Given the description of an element on the screen output the (x, y) to click on. 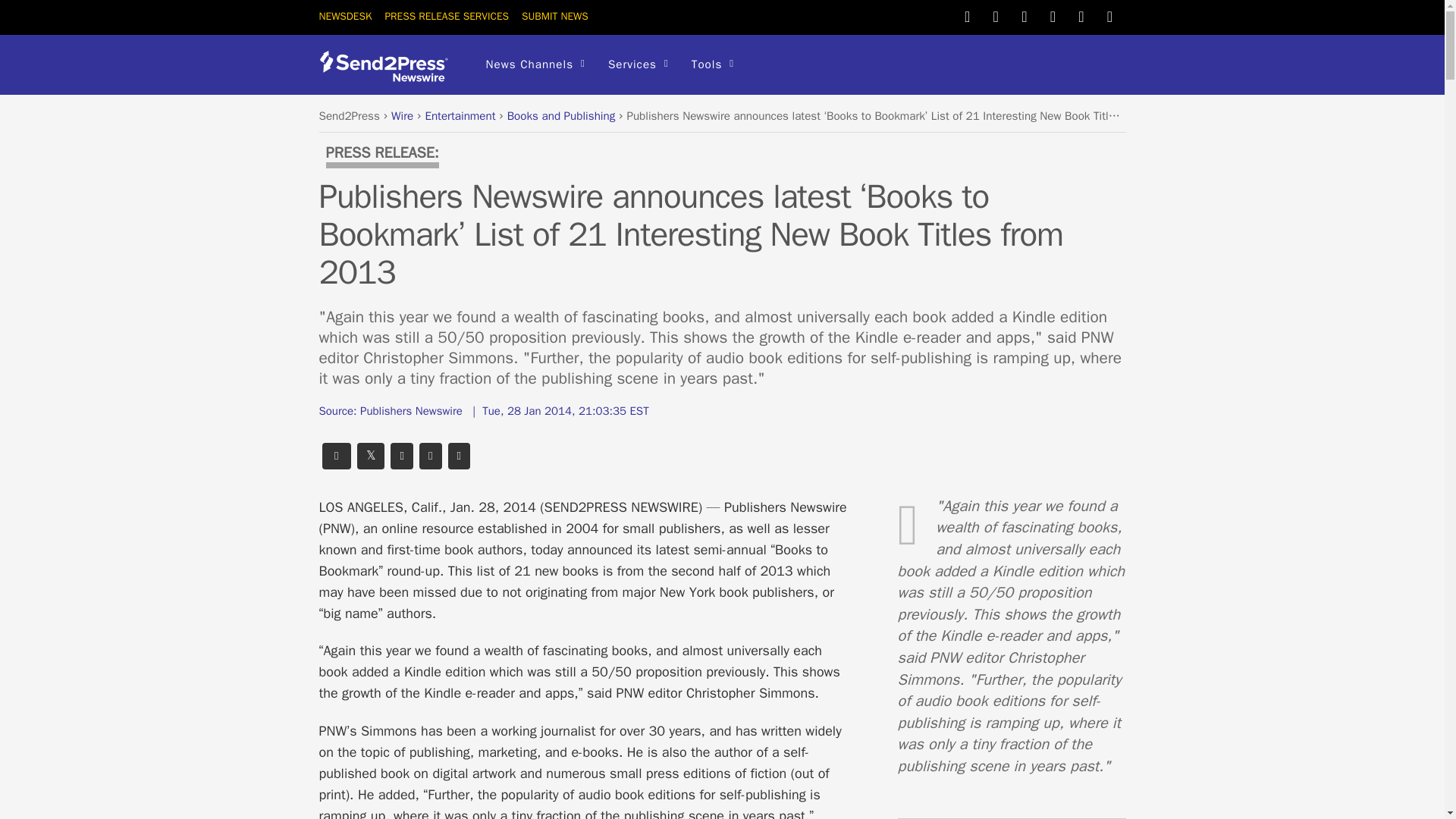
PR News Channels (535, 65)
RSS (1110, 15)
Instagram (1081, 15)
Facebook (995, 15)
Twitter (967, 15)
Send2Press Newswire (388, 66)
Pinterest (1024, 15)
Press Release Services (446, 15)
News Channels (535, 65)
LinkedIn (1052, 15)
Newswire Main Page (344, 15)
PRESS RELEASE SERVICES (446, 15)
Submit Press Release (554, 15)
SUBMIT NEWS (554, 15)
Send2Press Newswire - Press Release Services (388, 75)
